Given the description of an element on the screen output the (x, y) to click on. 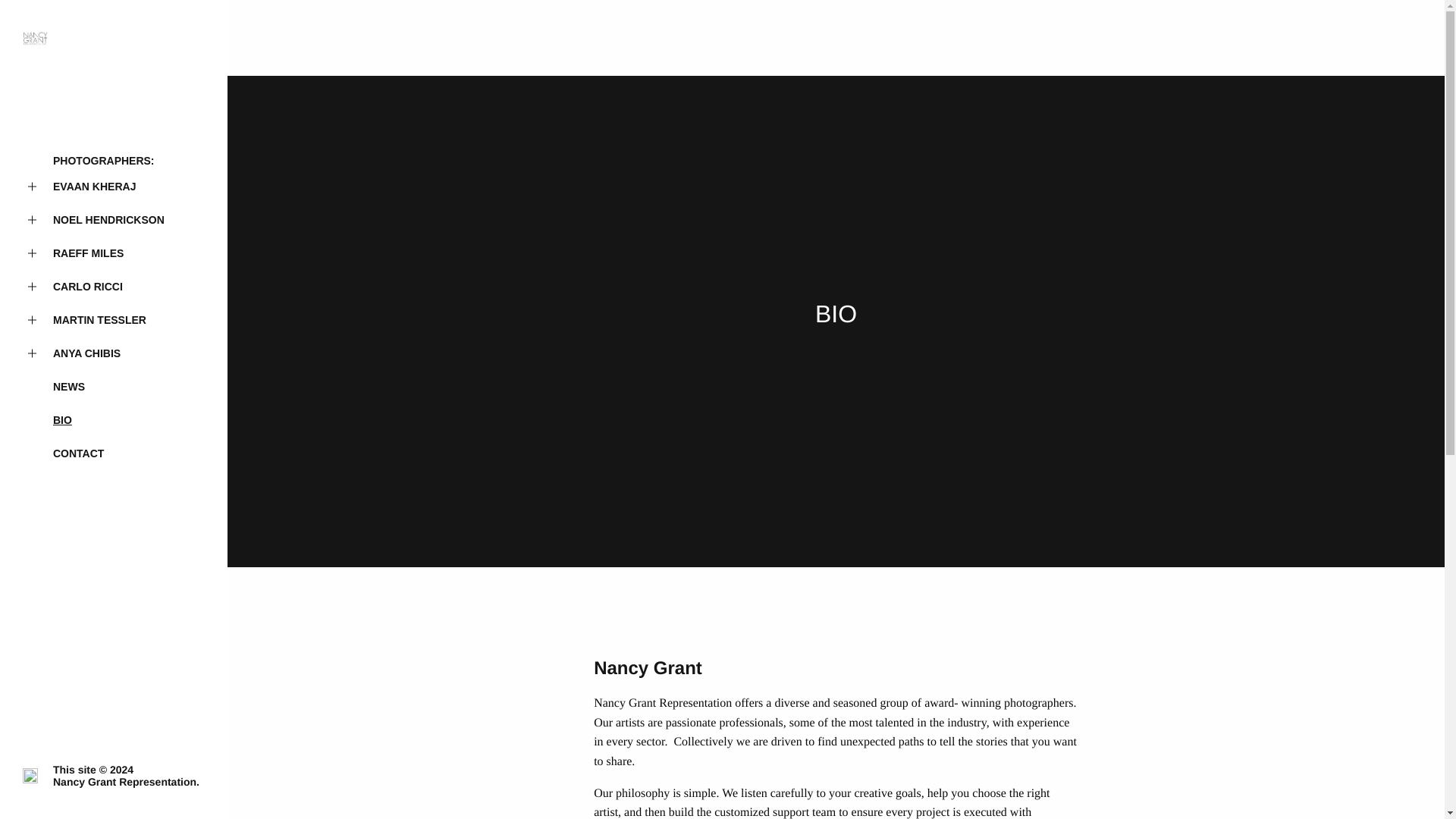
RAEFF MILES (114, 253)
PHOTOGRAPHERS: (114, 160)
ANYA CHIBIS (114, 353)
NOEL HENDRICKSON (114, 219)
MARTIN TESSLER (114, 319)
EVAAN KHERAJ (114, 186)
CARLO RICCI (114, 286)
